Given the description of an element on the screen output the (x, y) to click on. 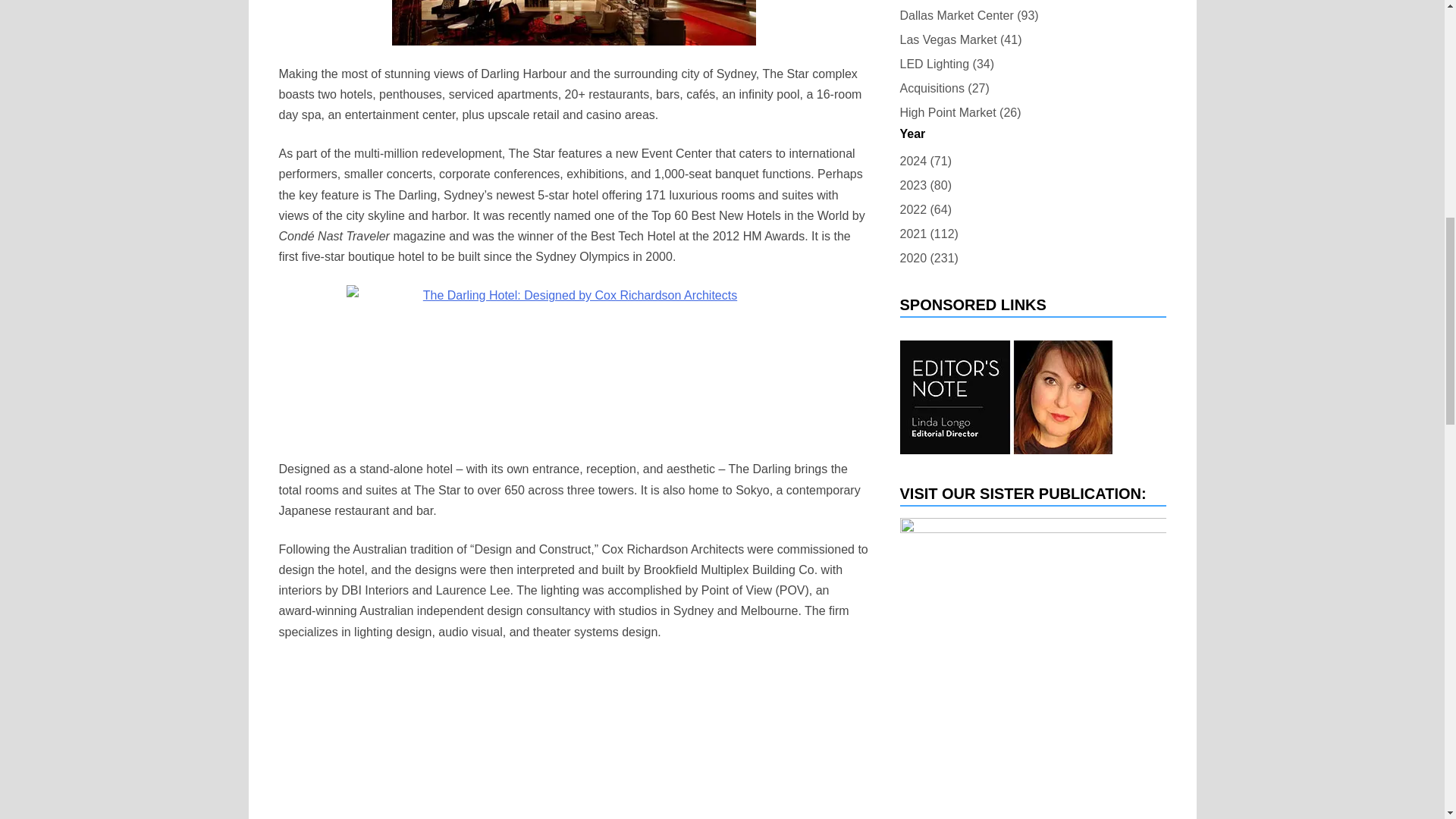
The Darling Hotel: Designed by Cox Richardson Architects (574, 362)
The Darling Hotel Point of View Lighting (574, 737)
The Darling Best Tech Hotel at the 2012 HM Awards (573, 22)
